Given the description of an element on the screen output the (x, y) to click on. 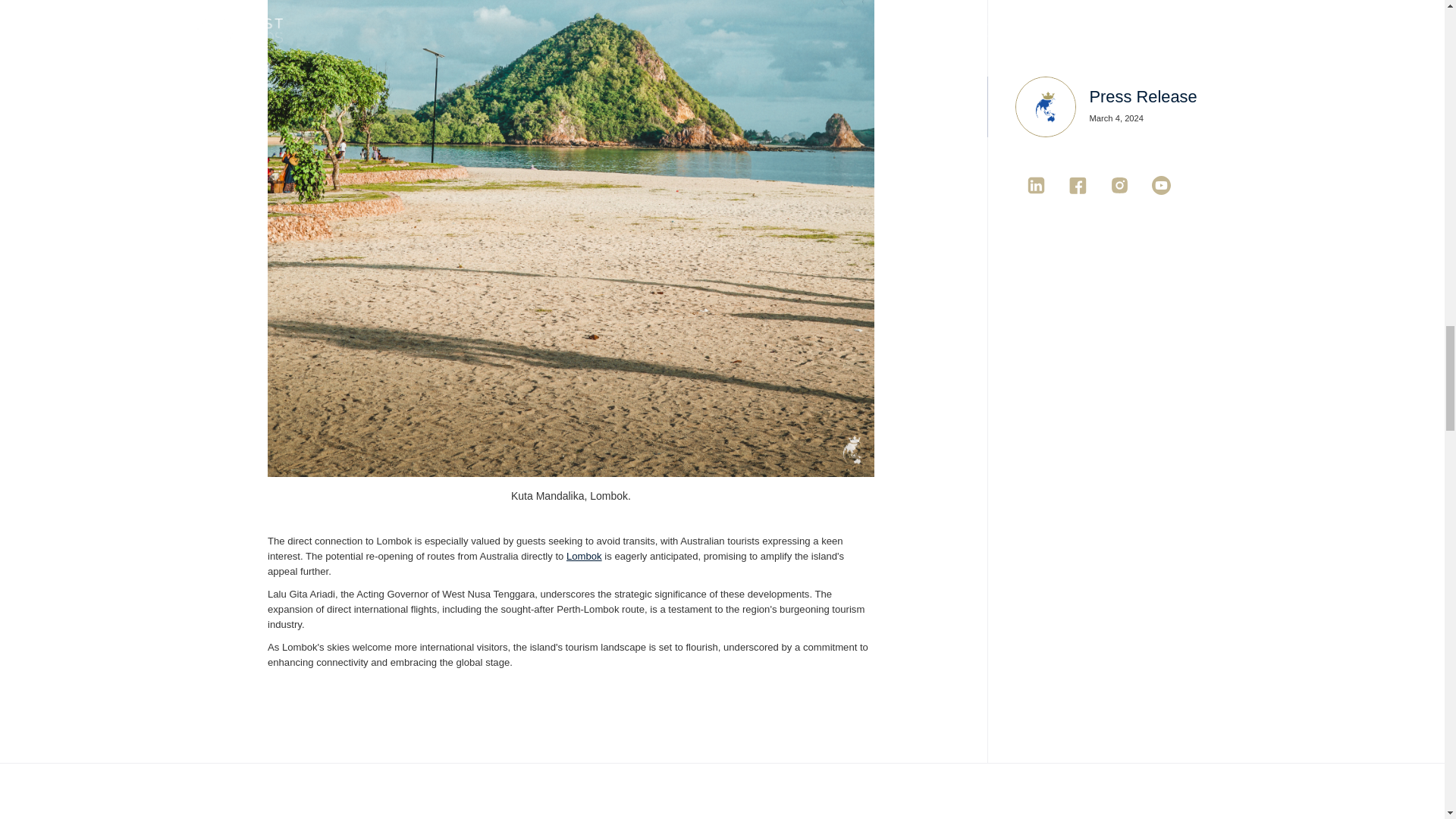
Lombok (584, 555)
